Given the description of an element on the screen output the (x, y) to click on. 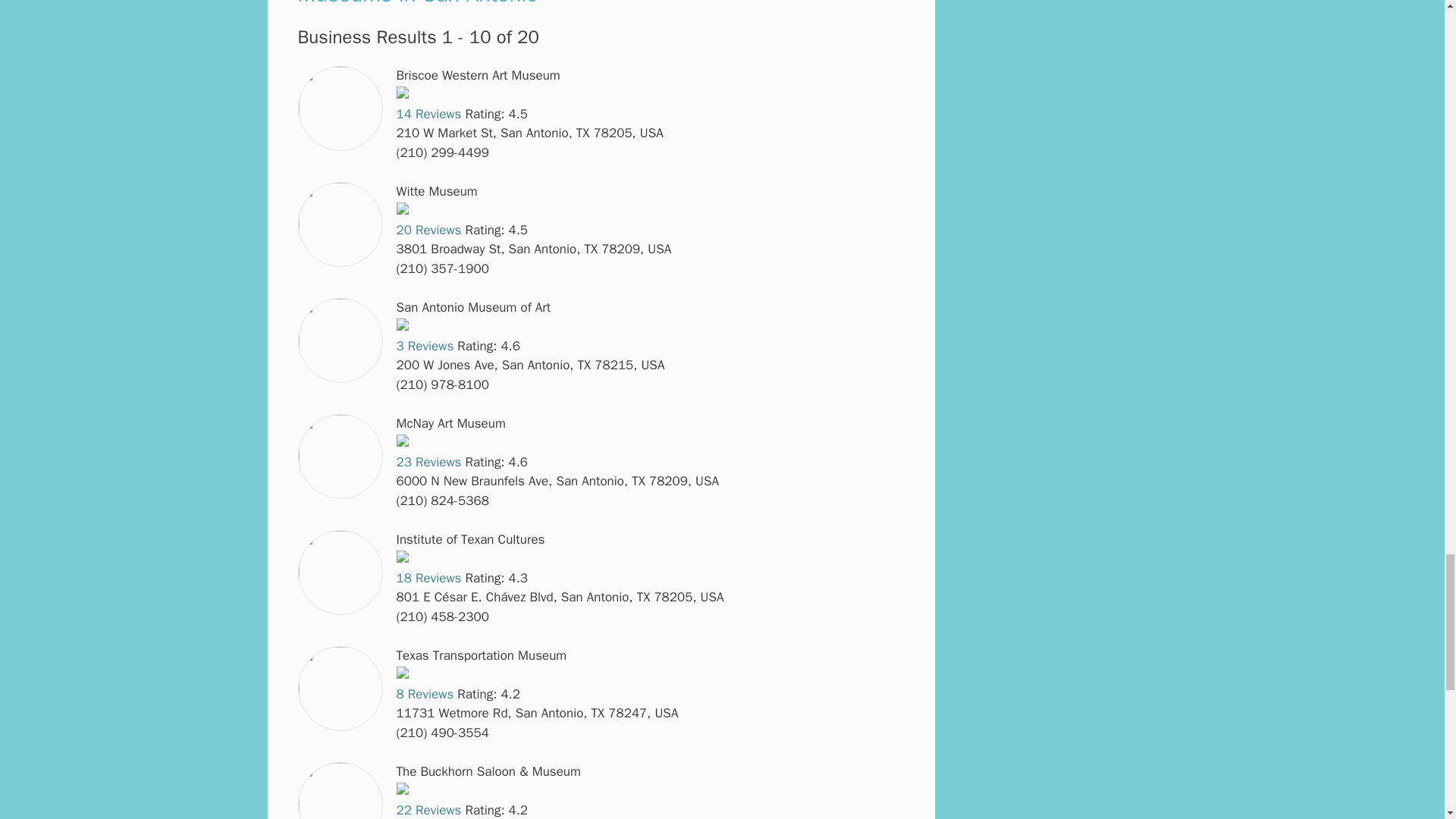
18 Reviews (428, 578)
8 Reviews (424, 693)
3 Reviews (424, 345)
23 Reviews (428, 462)
20 Reviews (428, 229)
22 Reviews (428, 810)
14 Reviews (428, 114)
